Given the description of an element on the screen output the (x, y) to click on. 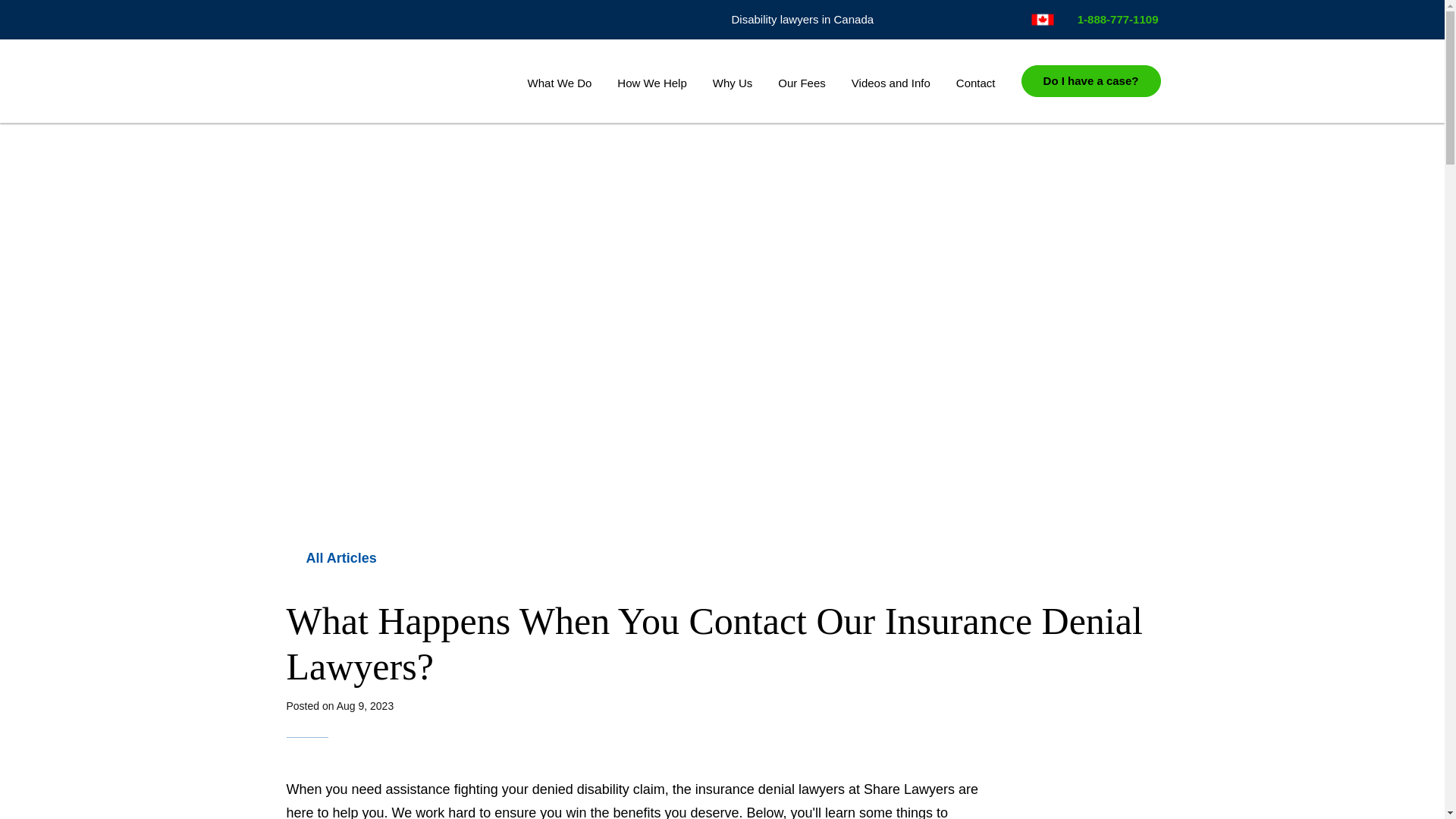
Share Lawyers (385, 81)
1-888-777-1109 (1111, 19)
